Given the description of an element on the screen output the (x, y) to click on. 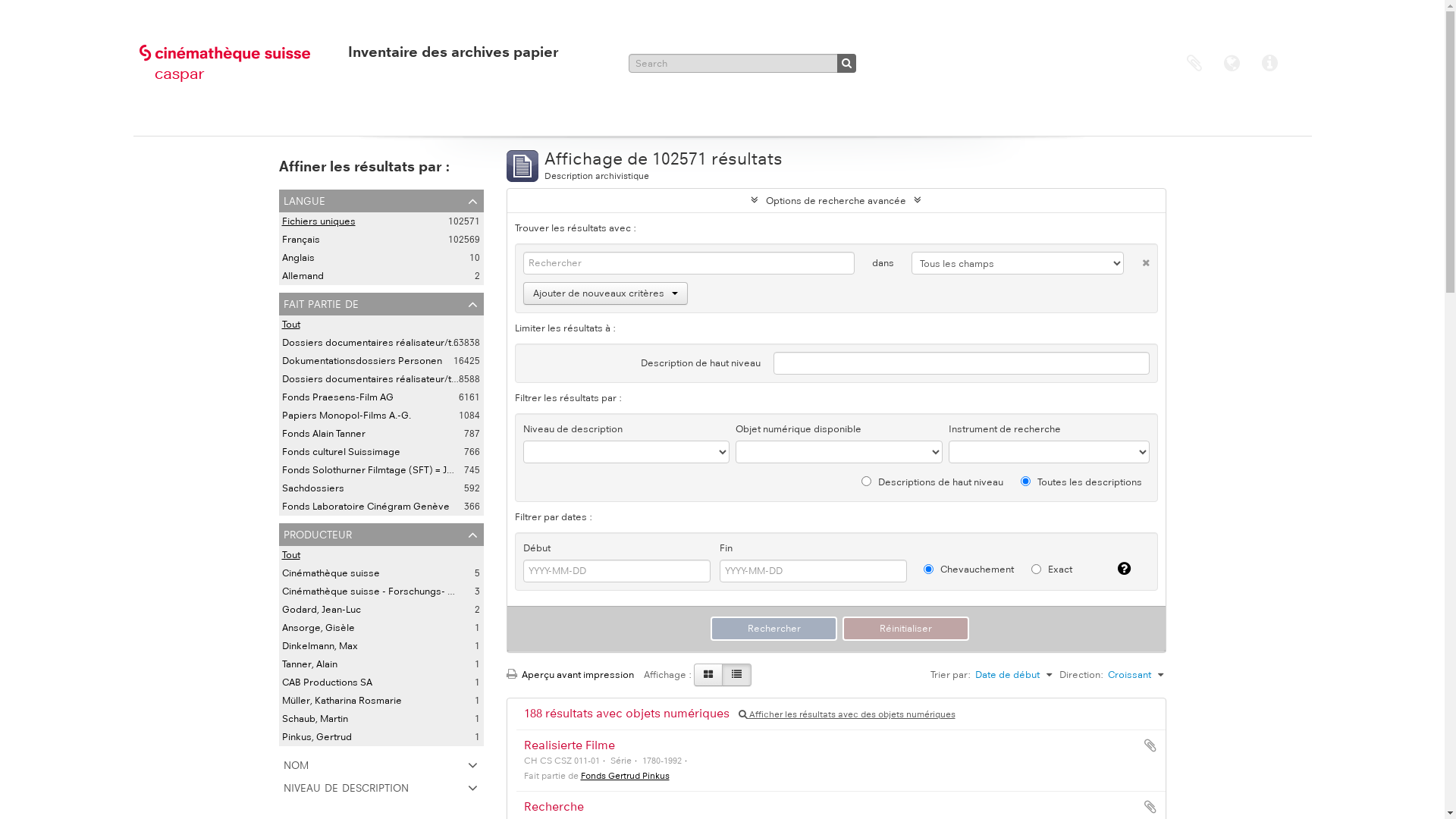
Fonds culturel Suissimage Element type: text (341, 451)
Recherche Element type: text (553, 806)
Fonds Praesens-Film AG Element type: text (337, 396)
Langue Element type: text (1232, 63)
Dokumentationsdossiers Personen Element type: text (362, 360)
Tout Element type: text (291, 554)
Allemand Element type: text (302, 275)
Rechercher Element type: text (773, 628)
Tout Element type: text (291, 323)
Liens rapides Element type: text (1270, 63)
Fonds Gertrud Pinkus Element type: text (624, 775)
nom Element type: text (381, 764)
CAB Productions SA Element type: text (327, 681)
Presse-papier Element type: text (1194, 63)
Realisierte Filme Element type: text (568, 744)
langue Element type: text (381, 200)
  Element type: hover (707, 674)
Godard, Jean-Luc Element type: text (321, 609)
Schaub, Martin Element type: text (315, 718)
Anglais Element type: text (298, 257)
Dinkelmann, Max Element type: text (319, 645)
  Element type: hover (736, 674)
Fichiers uniques Element type: text (318, 220)
Pinkus, Gertrud Element type: text (316, 736)
Fonds Alain Tanner Element type: text (323, 433)
producteur Element type: text (381, 534)
Ajouter au presse-papier Element type: text (1149, 806)
Sachdossiers Element type: text (313, 487)
fait partie de Element type: text (381, 303)
Papiers Monopol-Films A.-G. Element type: text (346, 414)
Tanner, Alain Element type: text (309, 663)
Ajouter au presse-papier Element type: text (1149, 745)
niveau de description Element type: text (381, 787)
